Given the description of an element on the screen output the (x, y) to click on. 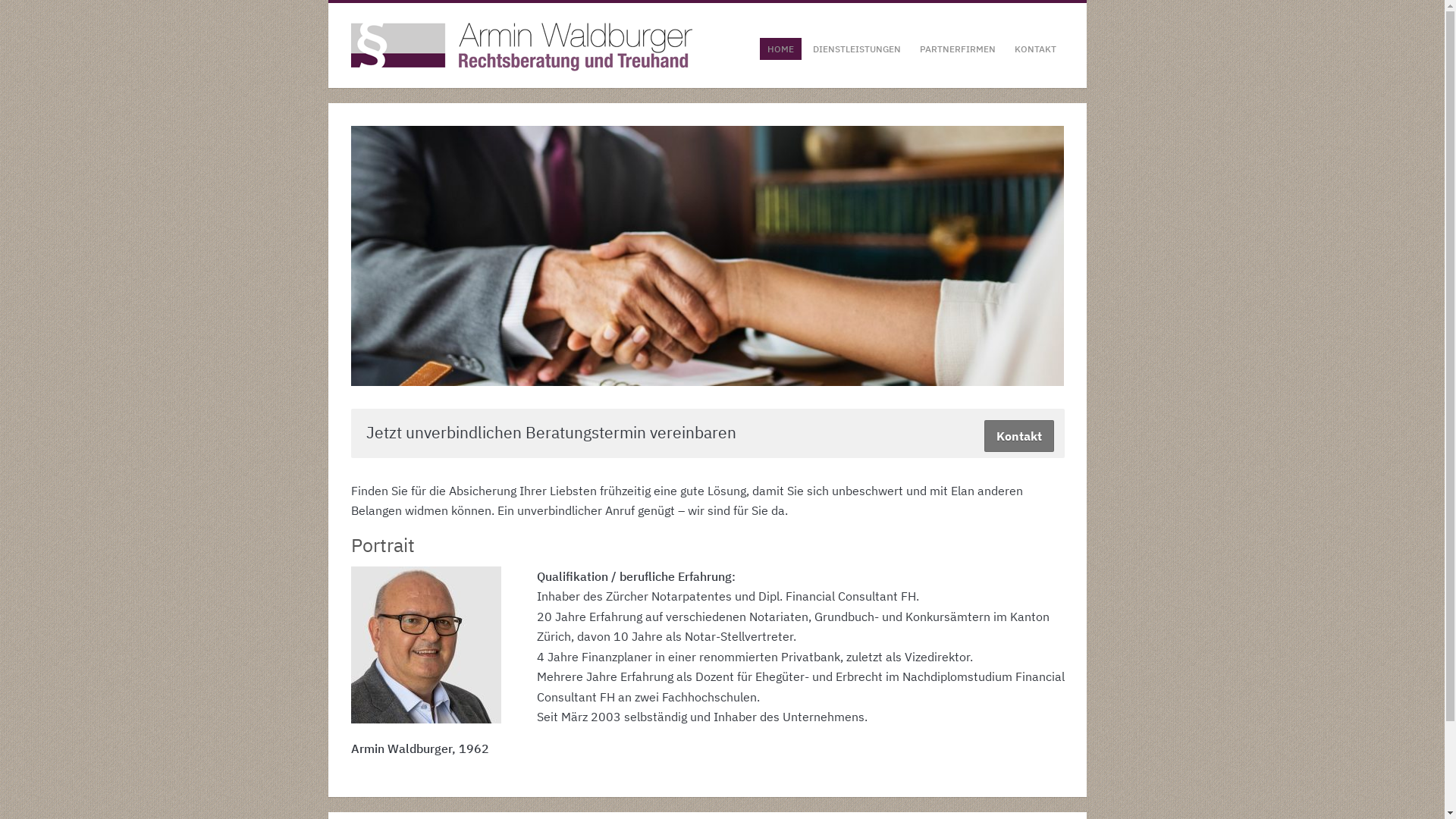
KONTAKT Element type: text (1035, 48)
PARTNERFIRMEN Element type: text (957, 48)
HOME Element type: text (780, 48)
Kontakt Element type: text (1019, 435)
DIENSTLEISTUNGEN Element type: text (856, 48)
